Given the description of an element on the screen output the (x, y) to click on. 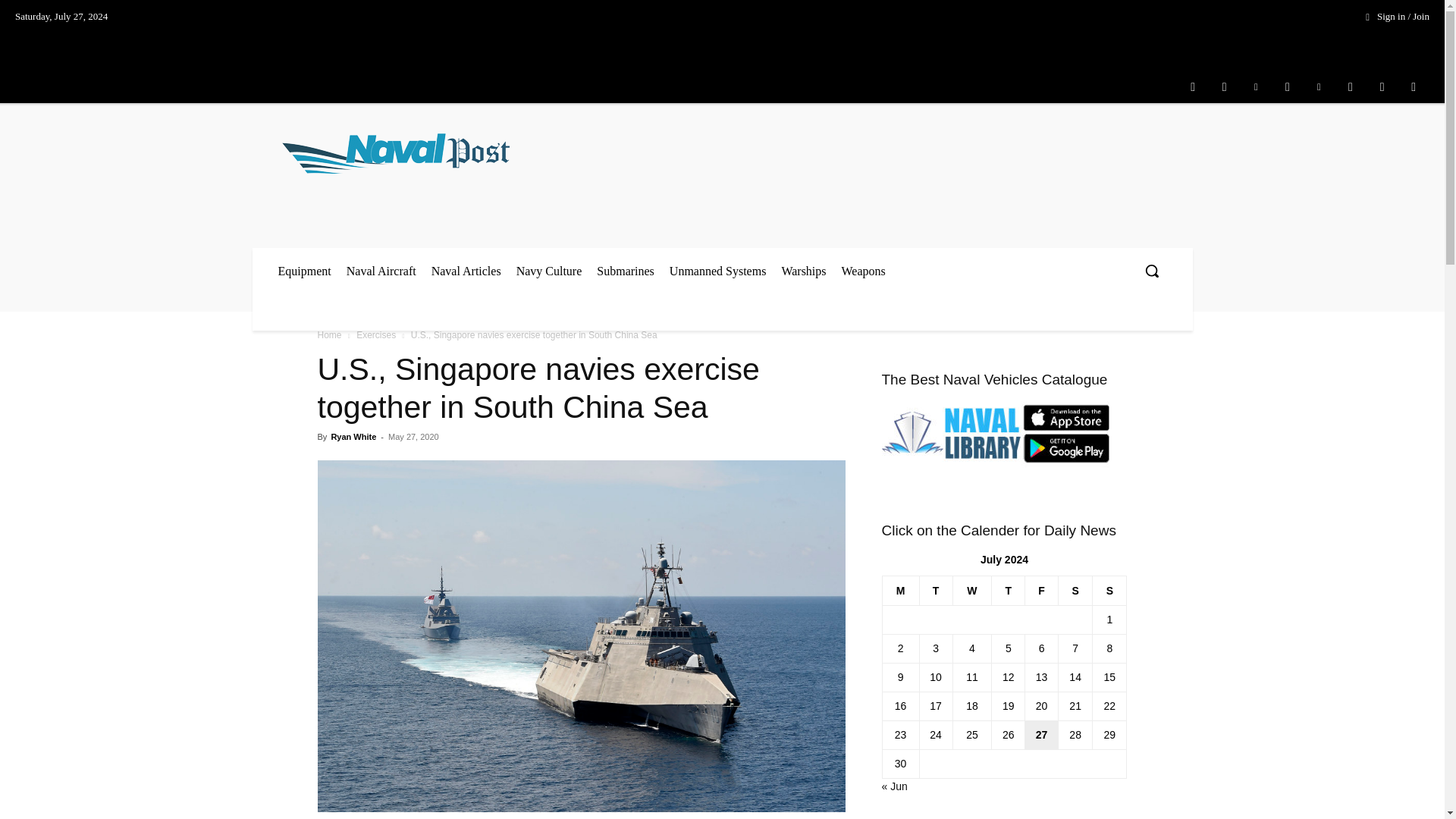
Instagram (1224, 87)
Naval Aircraft (381, 271)
Weapons (863, 271)
Mail (1287, 87)
Facebook (1192, 87)
Unmanned Systems (718, 271)
Pinterest (1319, 87)
Equipment (303, 271)
Navy Culture (548, 271)
Naval Articles (465, 271)
Home (328, 335)
Ryan White (352, 436)
Linkedin (1255, 87)
Submarines (625, 271)
Warships (802, 271)
